Given the description of an element on the screen output the (x, y) to click on. 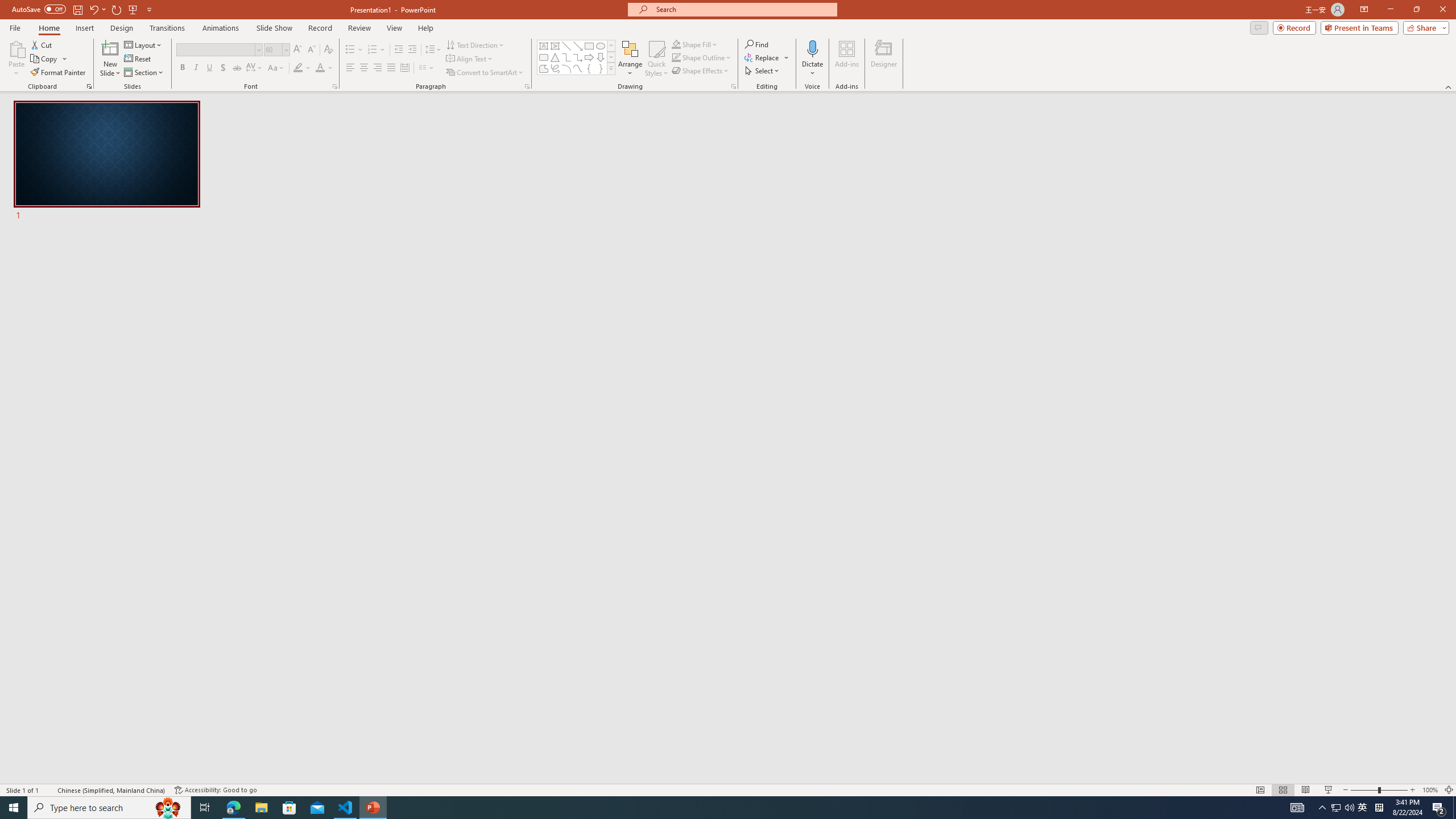
Text Box (543, 45)
Align Left (349, 67)
Distributed (404, 67)
Strikethrough (237, 67)
Replace... (767, 56)
Font Color Red (320, 67)
Class: MsoCommandBar (728, 789)
